Given the description of an element on the screen output the (x, y) to click on. 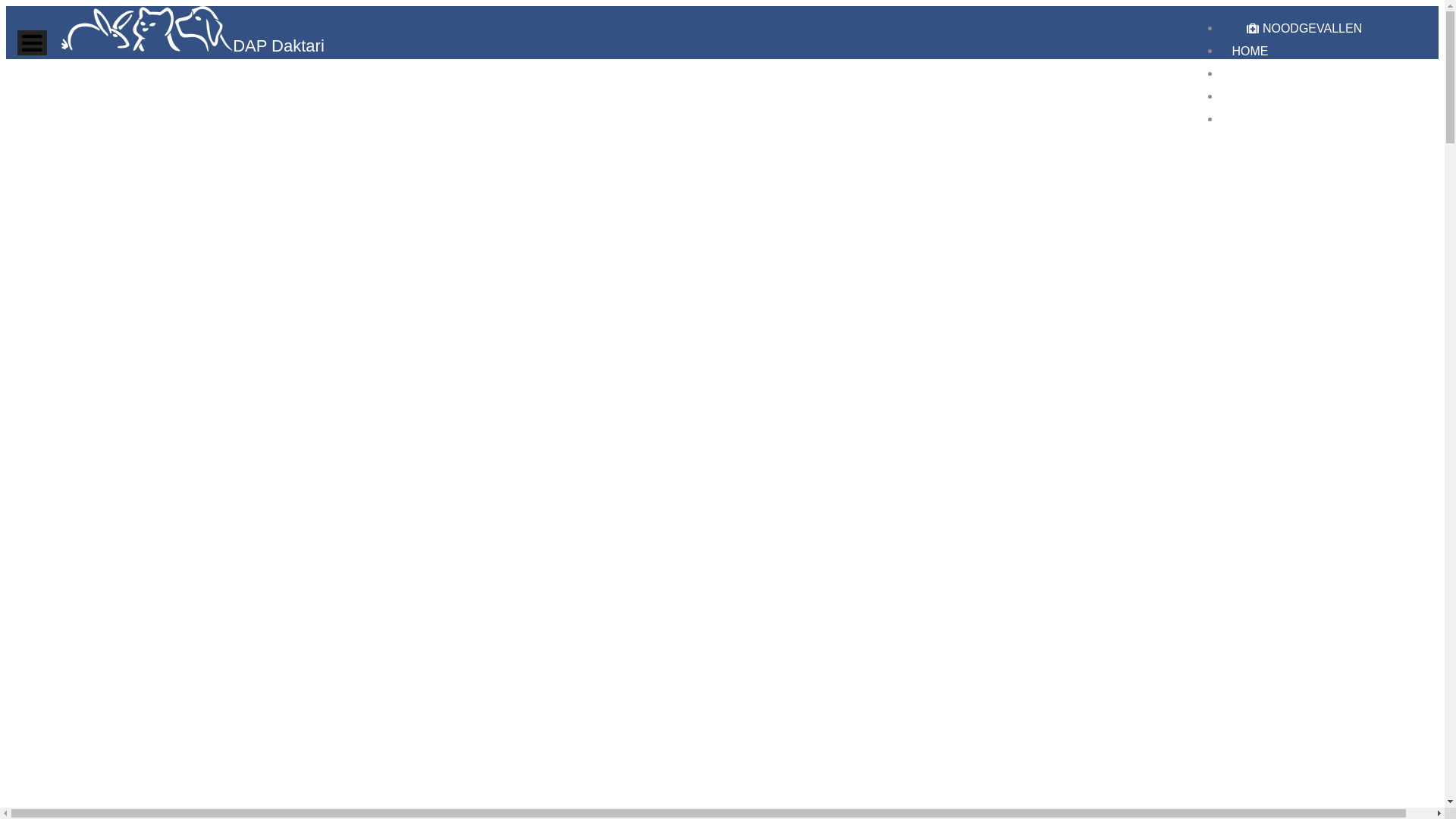
FAQ Element type: text (1243, 96)
DAP Daktari Element type: text (192, 47)
HOME Element type: text (1249, 50)
NOODGEVALLEN Element type: text (1304, 28)
AFHALEN VOEDING & MEDICATIE Element type: text (1329, 73)
Toggle Navigation Element type: text (32, 42)
CONTACT Element type: text (1260, 119)
